Given the description of an element on the screen output the (x, y) to click on. 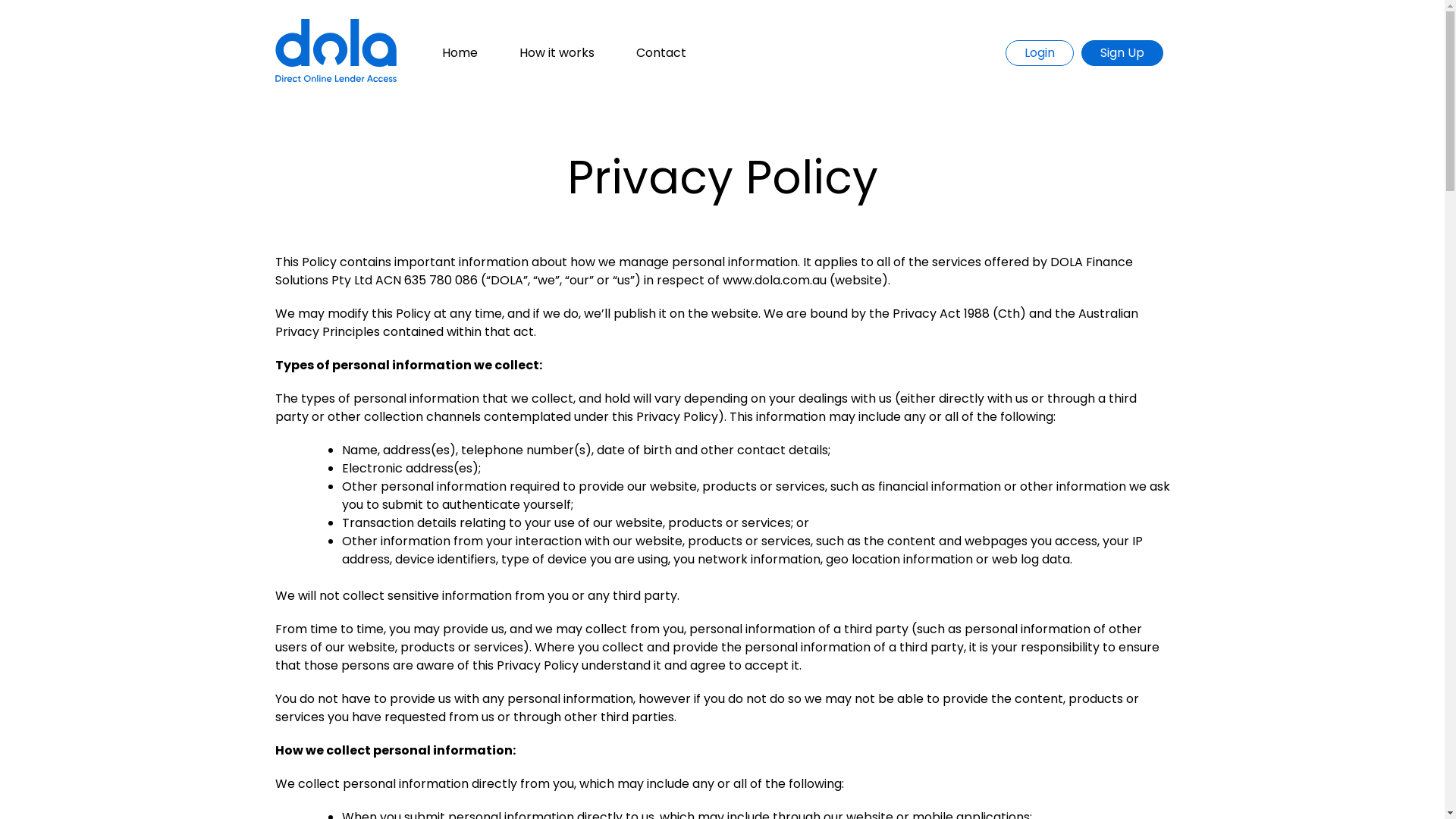
Home Element type: text (459, 52)
Sign Up Element type: text (1122, 52)
How it works Element type: text (555, 52)
Contact Element type: text (660, 52)
Login Element type: text (1039, 52)
